Given the description of an element on the screen output the (x, y) to click on. 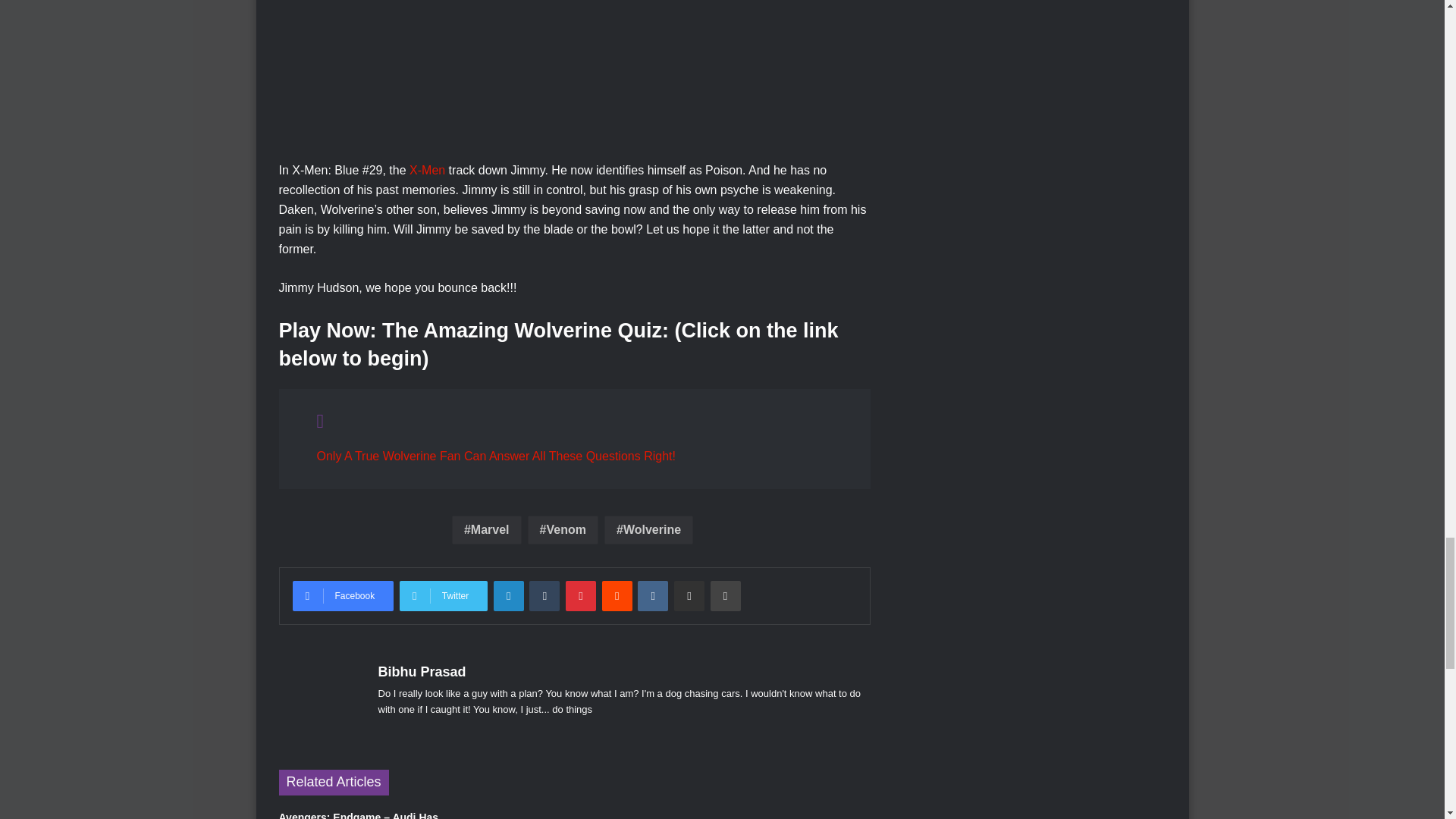
Facebook (343, 595)
Share via Email (689, 595)
Share via Email (689, 595)
Pinterest (580, 595)
Tumblr (544, 595)
Wolverine (648, 529)
Reddit (616, 595)
Pinterest (580, 595)
Marvel (486, 529)
Print (725, 595)
Reddit (616, 595)
Twitter (442, 595)
Print (725, 595)
VKontakte (652, 595)
